Given the description of an element on the screen output the (x, y) to click on. 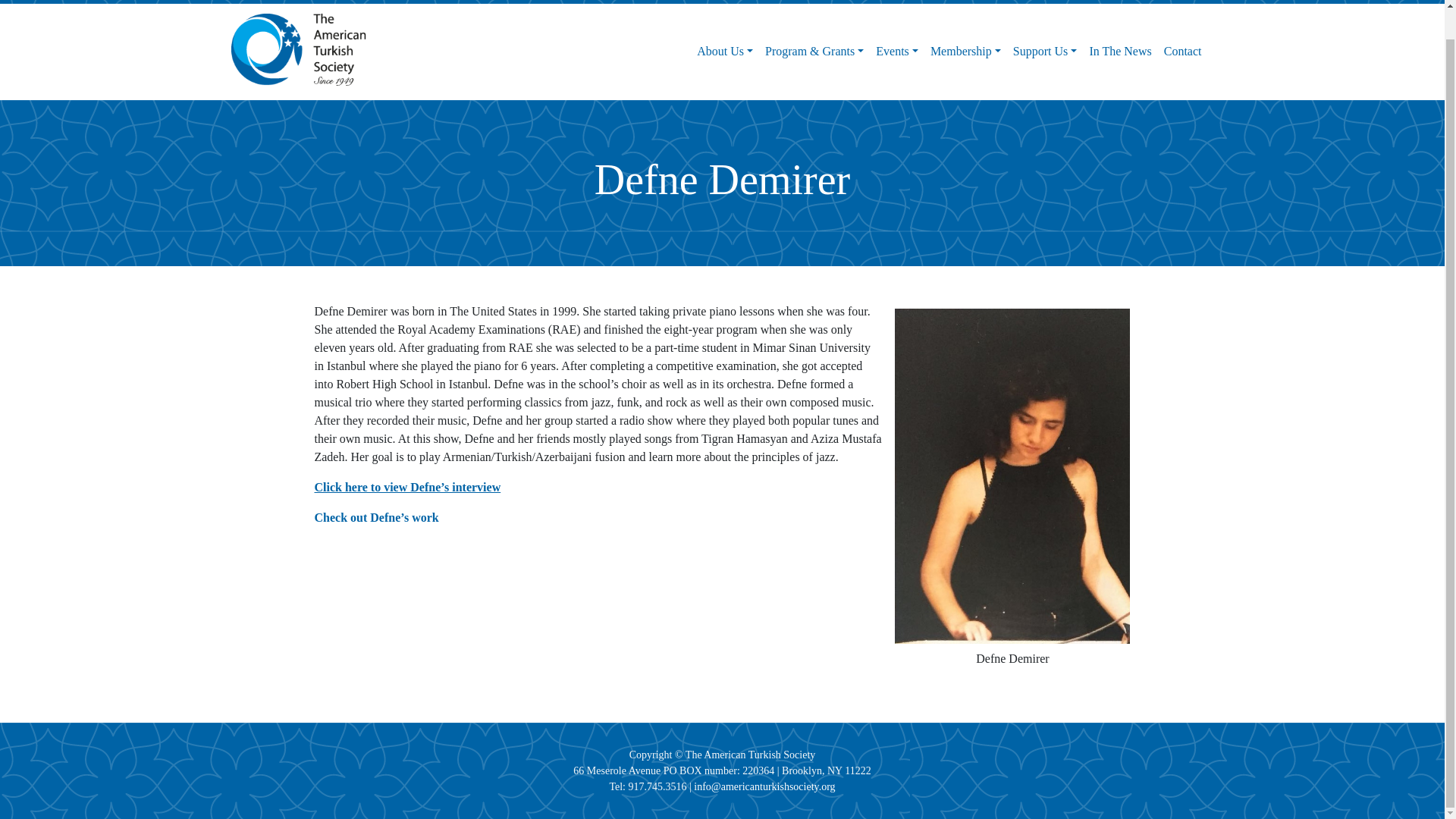
Contact (1182, 51)
Membership (965, 51)
In The News (1120, 51)
Support Us (1045, 51)
Events (896, 51)
About Us (724, 51)
